Given the description of an element on the screen output the (x, y) to click on. 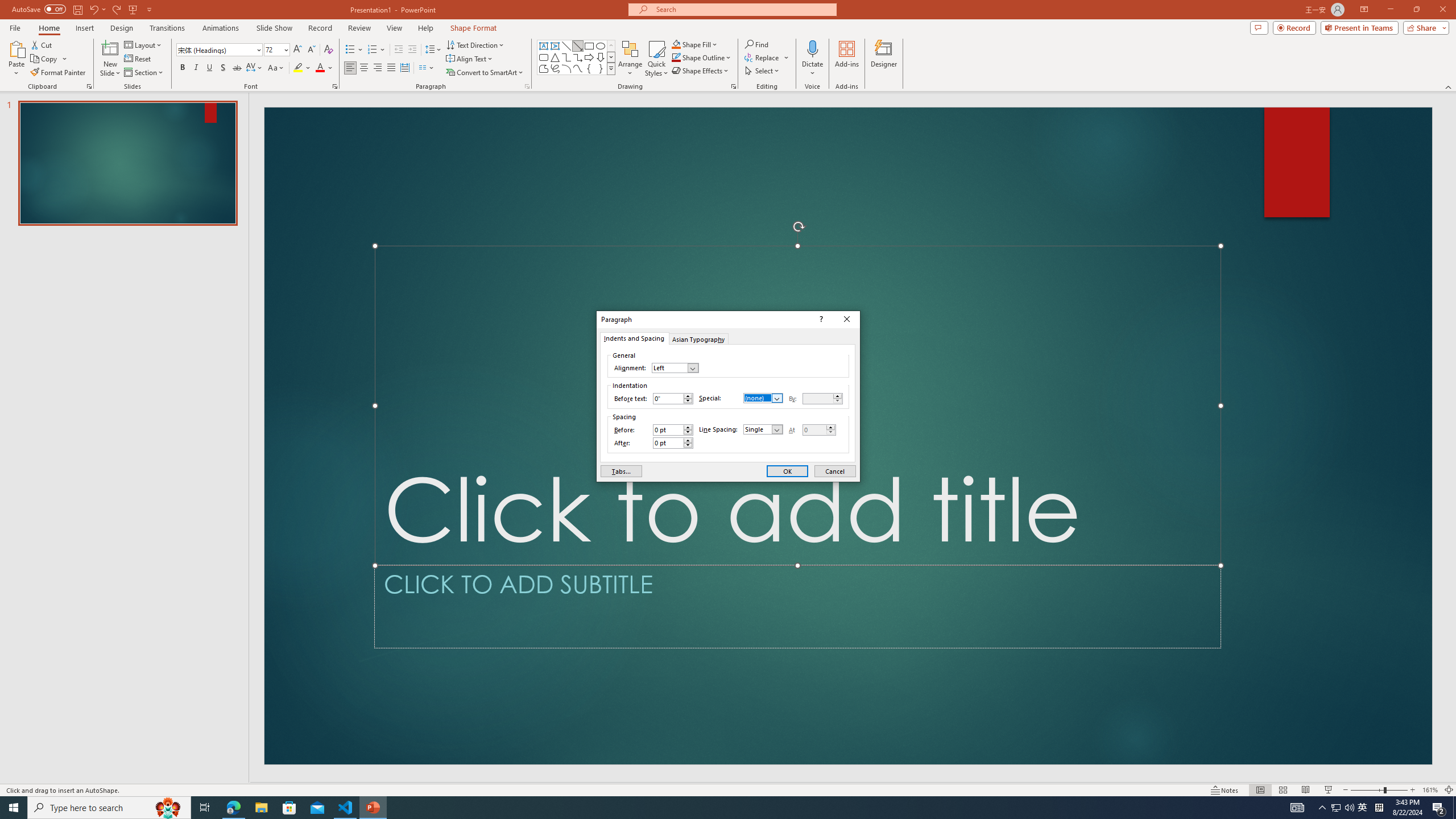
Line (566, 45)
Office Clipboard... (88, 85)
Italic (195, 67)
Special (763, 397)
Decrease Indent (398, 49)
Isosceles Triangle (554, 57)
Align Text (470, 58)
Arrange (630, 58)
Microsoft Store (289, 807)
Line Spacing (763, 429)
More (830, 427)
